Given the description of an element on the screen output the (x, y) to click on. 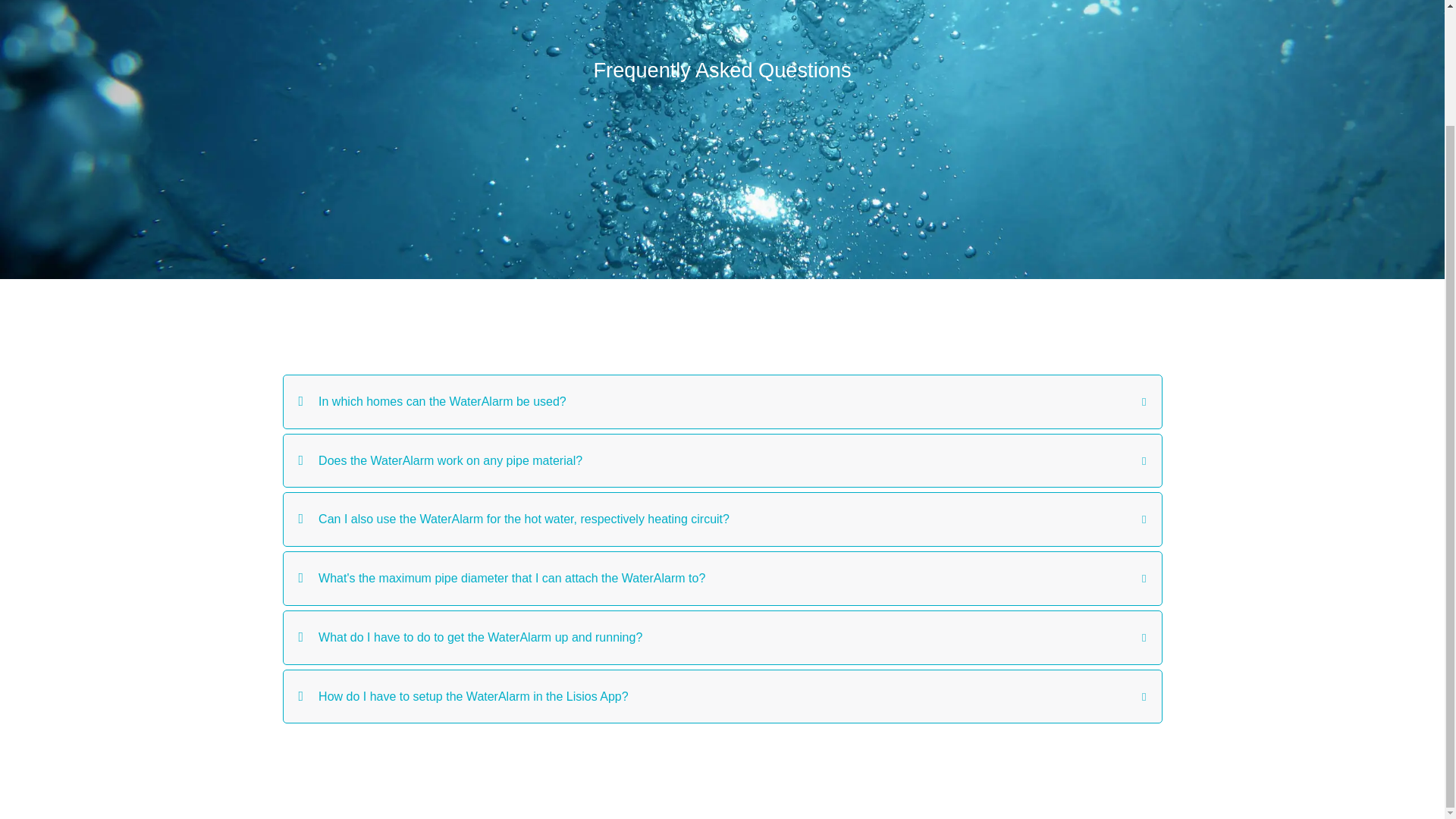
What do I have to do to get the WaterAlarm up and running? (721, 637)
How do I have to setup the WaterAlarm in the Lisios App? (721, 696)
In which homes can the WaterAlarm be used? (721, 401)
Does the WaterAlarm work on any pipe material? (721, 461)
